Given the description of an element on the screen output the (x, y) to click on. 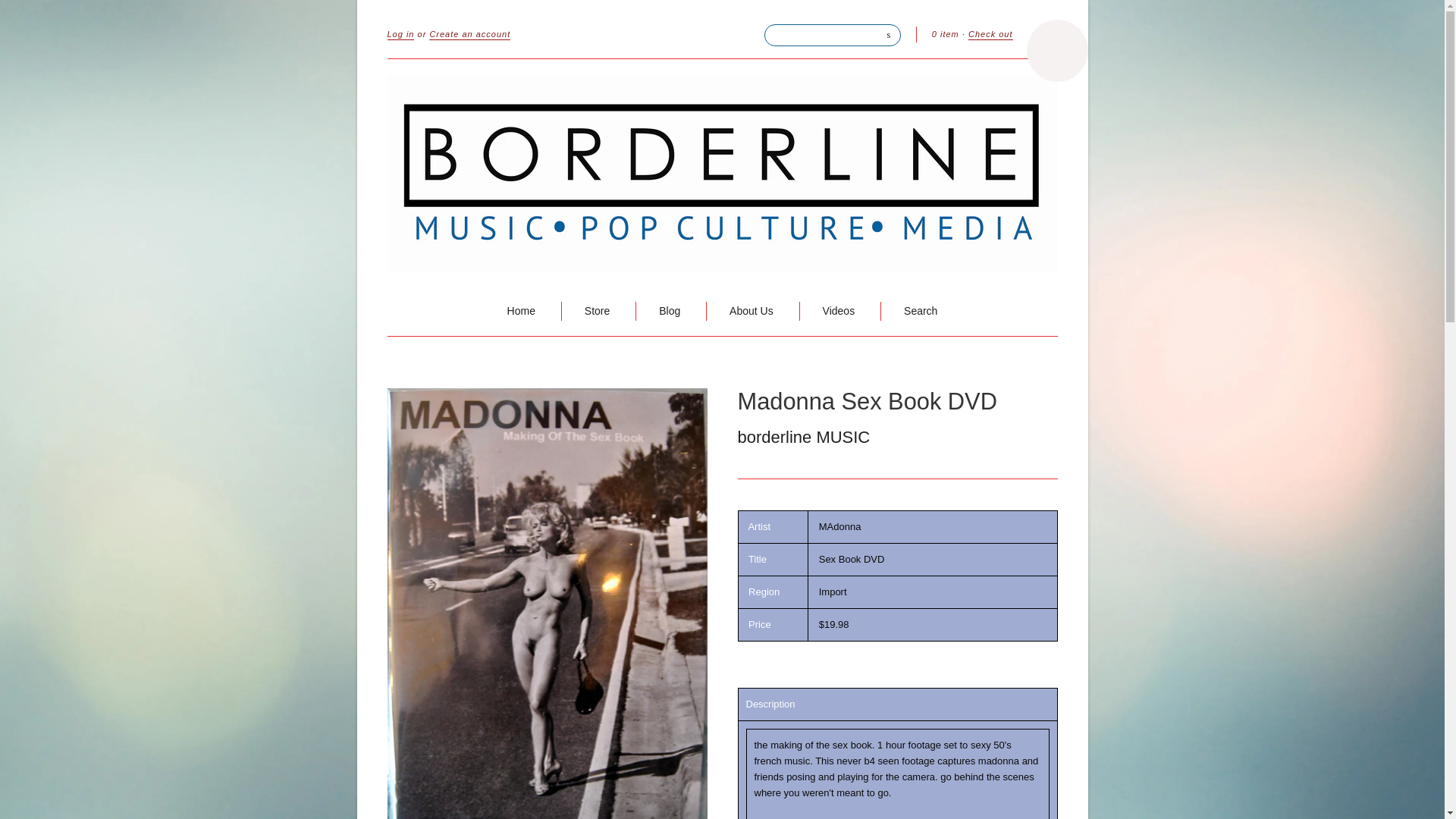
0 item (945, 34)
Store (597, 311)
Check out (990, 34)
borderline MUSIC (802, 436)
Home (520, 311)
Create an account (470, 34)
Search (920, 311)
Search (888, 33)
Blog (669, 311)
Videos (839, 311)
Log in (400, 34)
About Us (751, 311)
